Given the description of an element on the screen output the (x, y) to click on. 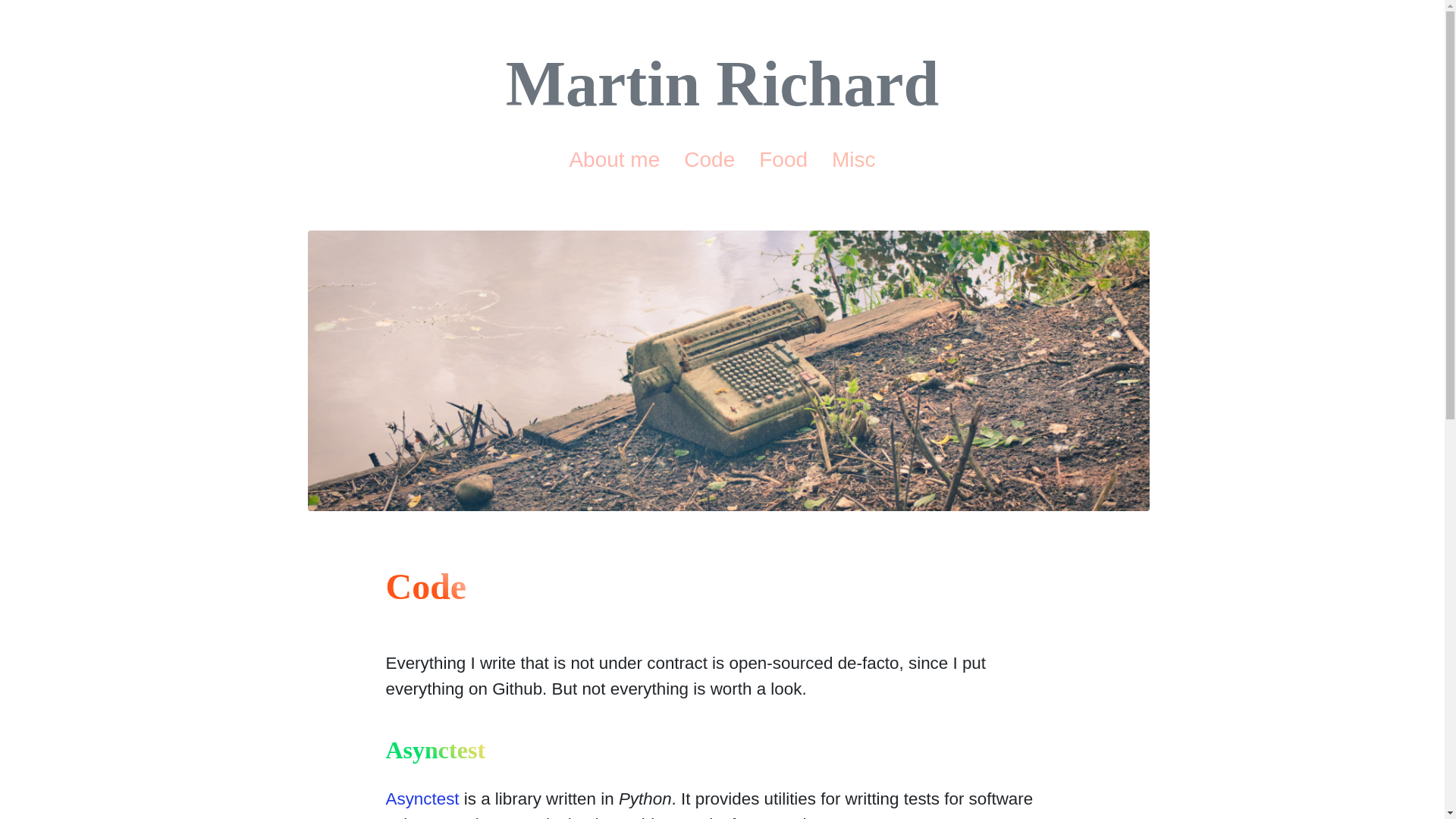
About me (613, 159)
Martin Richard (722, 83)
Food (782, 159)
Misc (853, 159)
Code (708, 159)
Asynctest (421, 798)
